Given the description of an element on the screen output the (x, y) to click on. 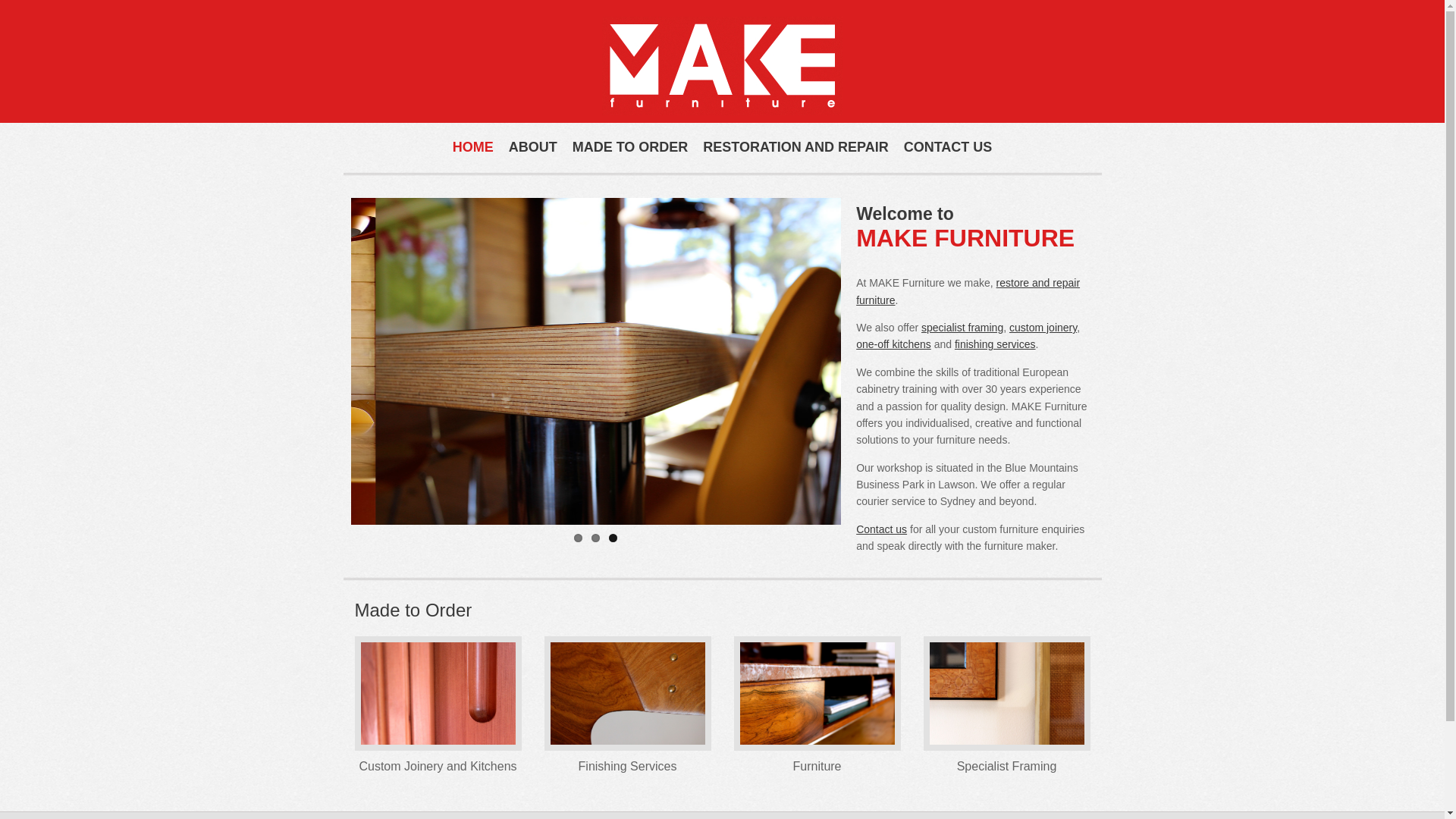
MADE TO ORDER Element type: text (630, 147)
restore and repair furniture Element type: text (967, 290)
HOME Element type: text (473, 147)
RESTORATION AND REPAIR Element type: text (795, 147)
ABOUT Element type: text (532, 147)
specialist framing Element type: text (962, 327)
3 Element type: text (612, 537)
finishing services Element type: text (994, 344)
1 Element type: text (578, 537)
one-off kitchens Element type: text (893, 344)
2 Element type: text (595, 537)
Contact us Element type: text (881, 529)
custom joinery Element type: text (1042, 327)
CONTACT US Element type: text (948, 147)
